Given the description of an element on the screen output the (x, y) to click on. 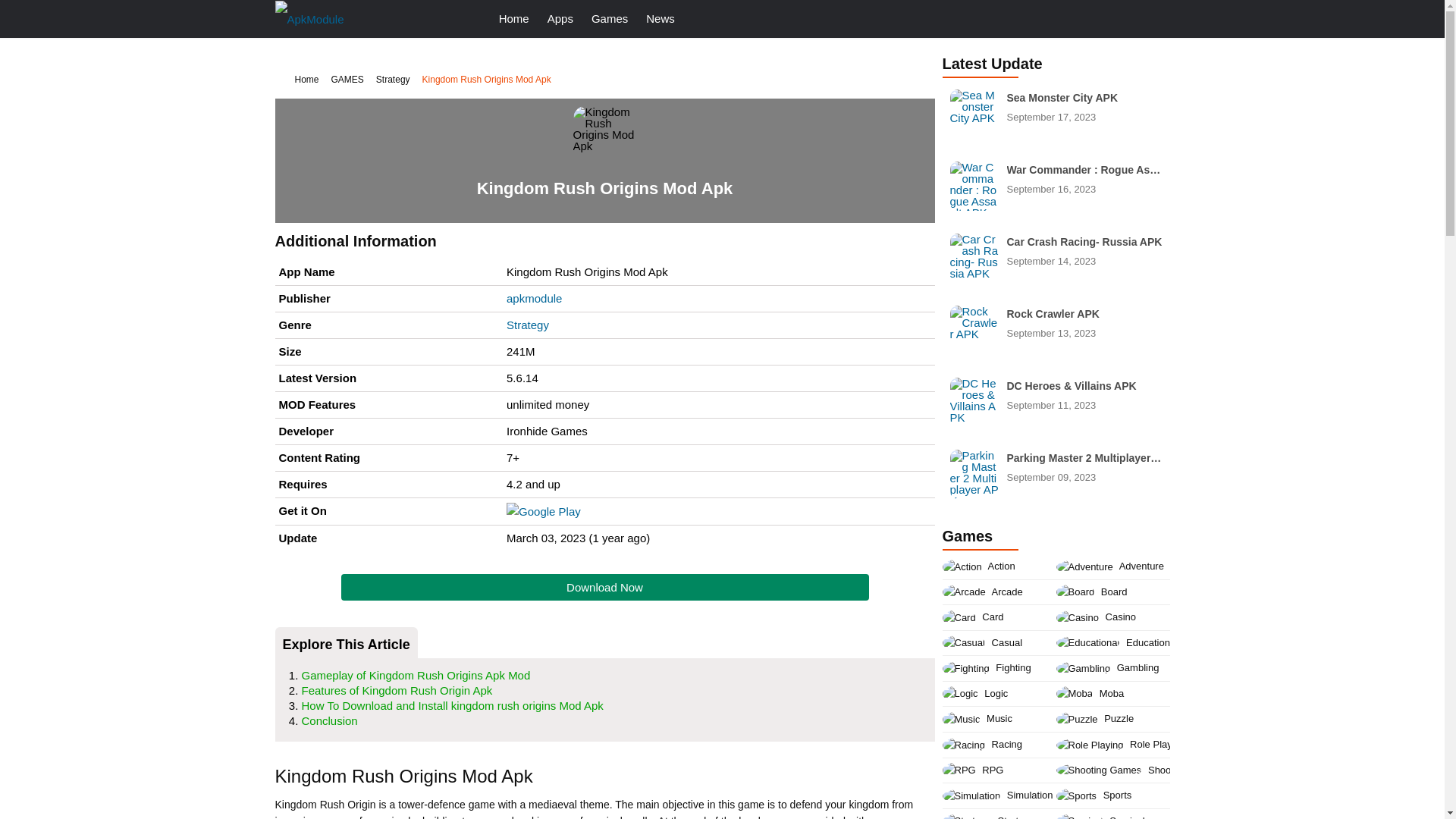
Home (300, 78)
Strategy (527, 324)
Gameplay of Kingdom Rush Origins Apk Mod (416, 675)
apkmodule (534, 297)
Conclusion (329, 720)
GAMES (1055, 113)
Features of Kingdom Rush Origin Apk (347, 78)
Strategy (1055, 258)
Download Now (397, 689)
News (392, 78)
How To Download and Install kingdom rush origins Mod Apk (604, 587)
Apps (660, 18)
